Given the description of an element on the screen output the (x, y) to click on. 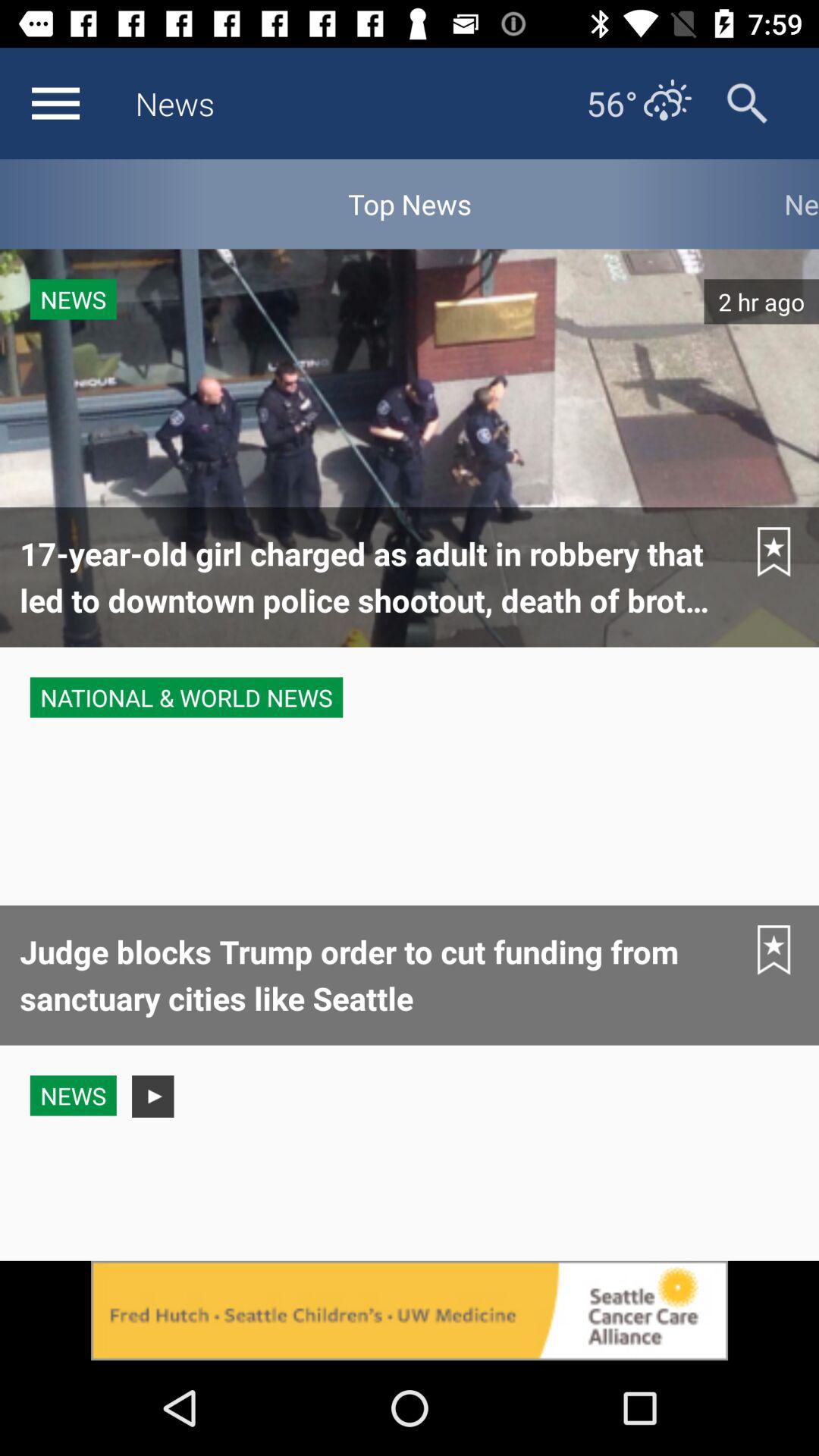
search news (747, 103)
